Given the description of an element on the screen output the (x, y) to click on. 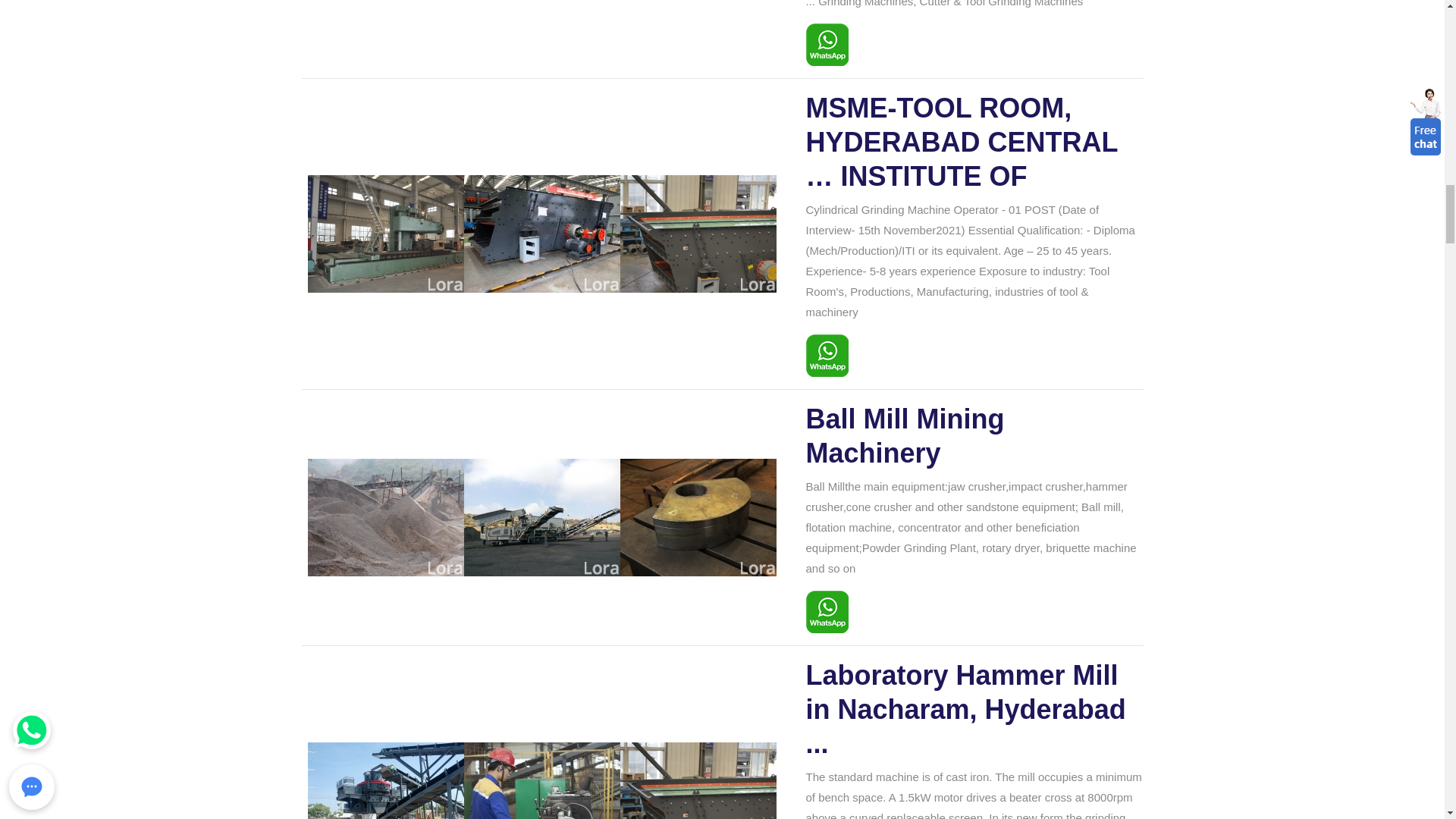
Laboratory Hammer Mill in Nacharam, Hyderabad ... (973, 709)
Ball Mill Mining Machinery (973, 436)
